Given the description of an element on the screen output the (x, y) to click on. 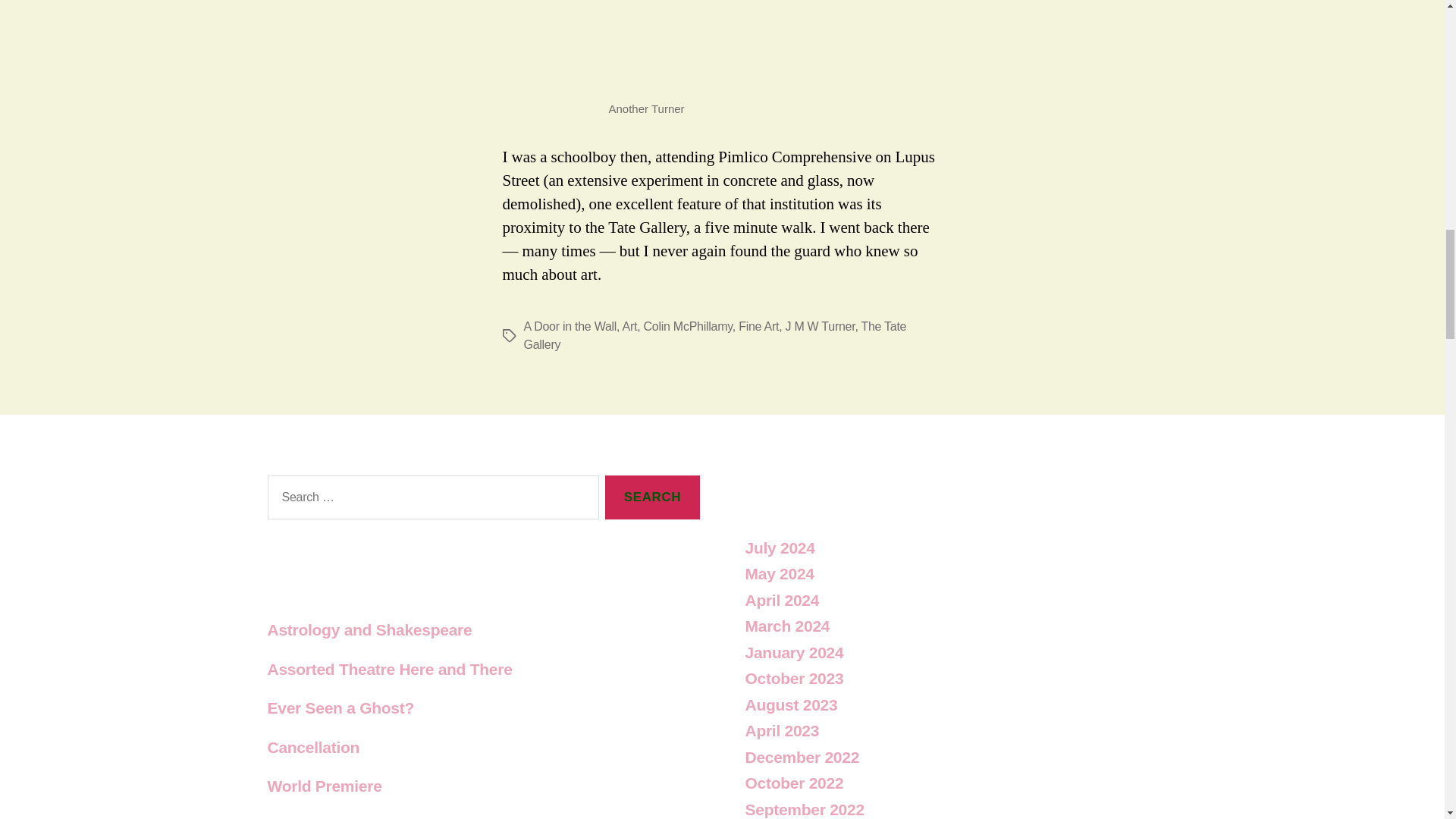
Cancellation (312, 746)
May 2024 (778, 573)
Astrology and Shakespeare (368, 629)
January 2024 (793, 651)
Search (651, 497)
Assorted Theatre Here and There (389, 669)
Search (651, 497)
Colin McPhillamy (687, 326)
April 2024 (781, 600)
Art (630, 326)
